Given the description of an element on the screen output the (x, y) to click on. 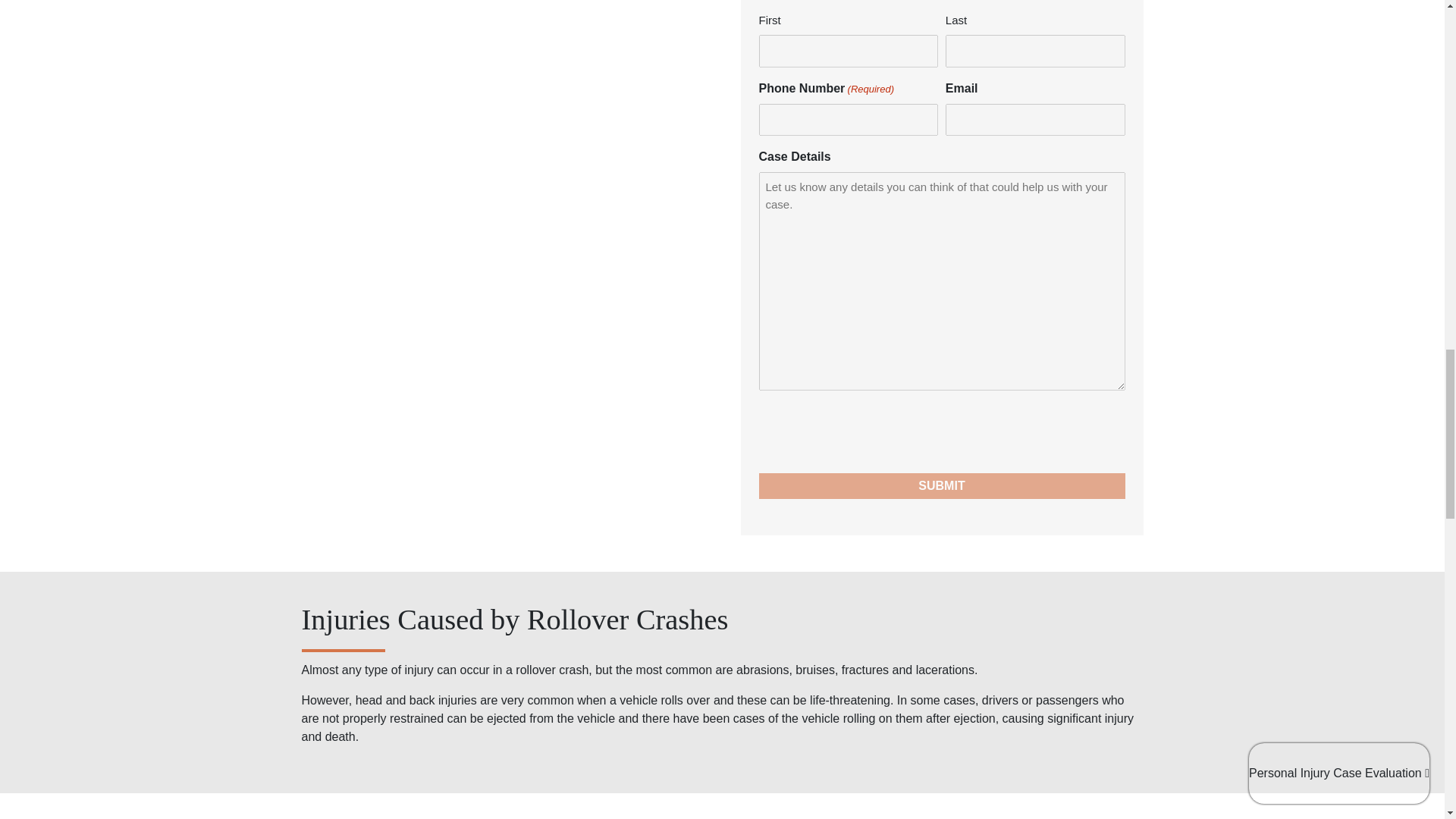
Submit (941, 485)
